Given the description of an element on the screen output the (x, y) to click on. 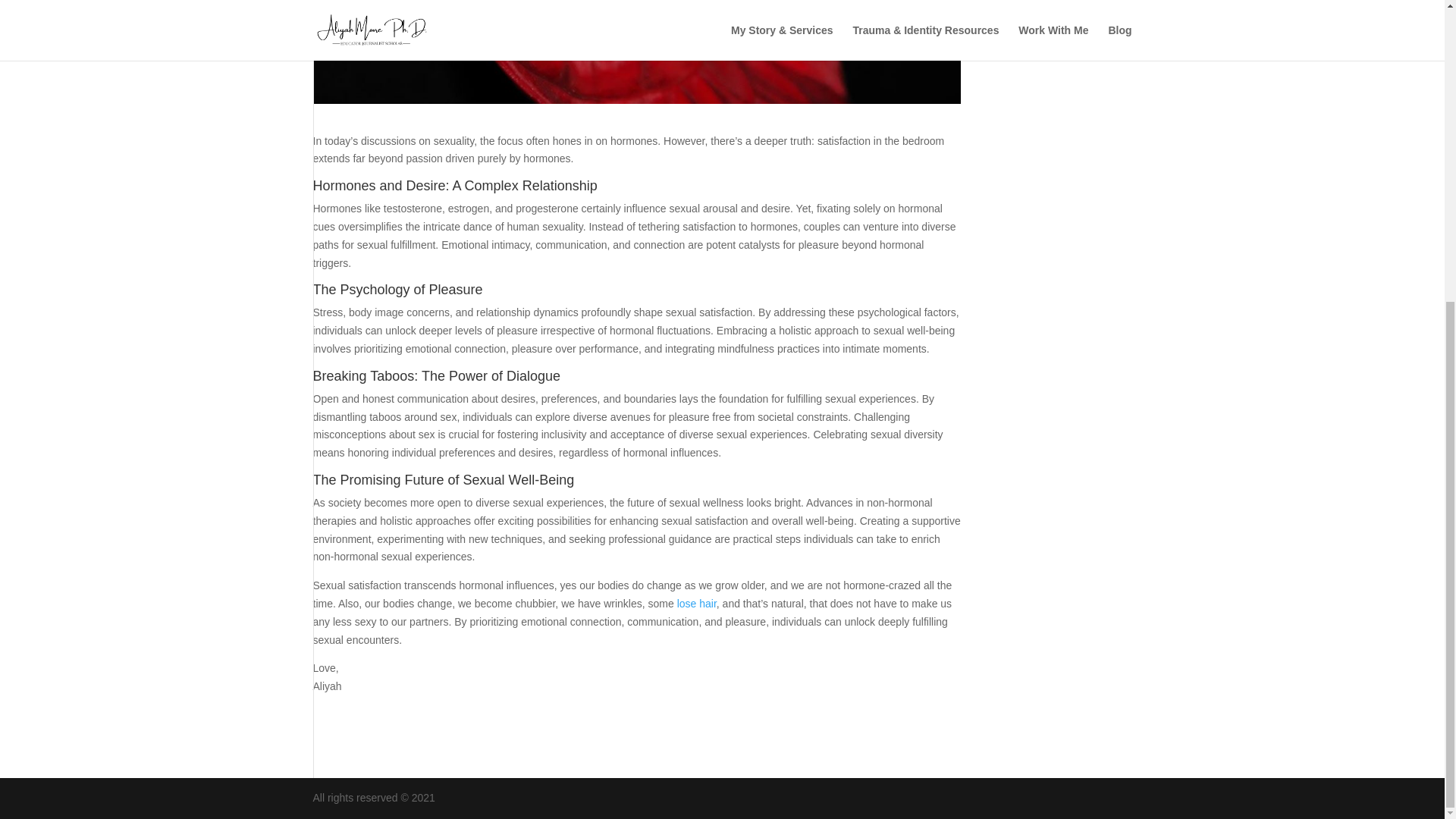
lose hair (696, 603)
